Given the description of an element on the screen output the (x, y) to click on. 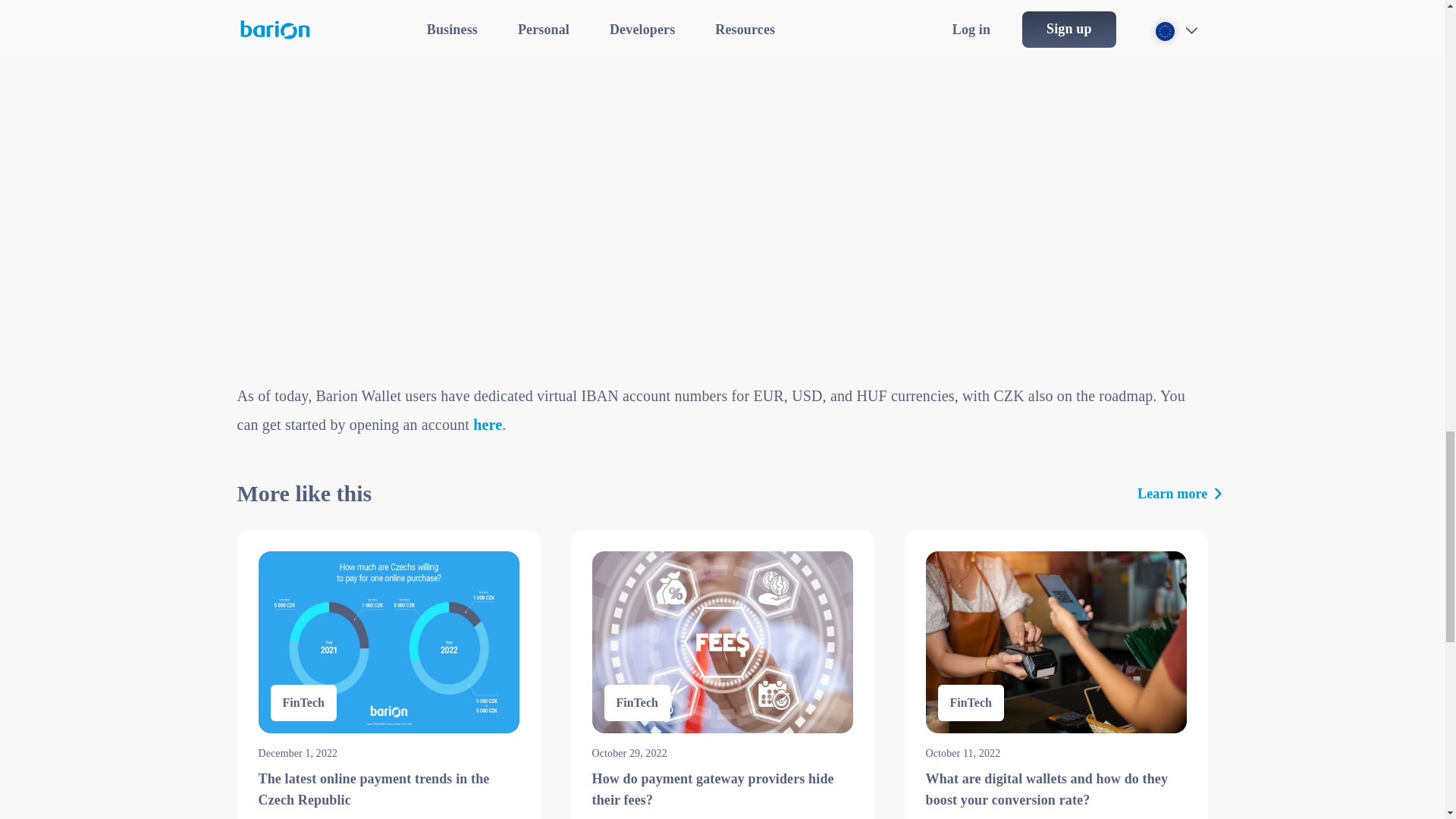
here (487, 424)
